Given the description of an element on the screen output the (x, y) to click on. 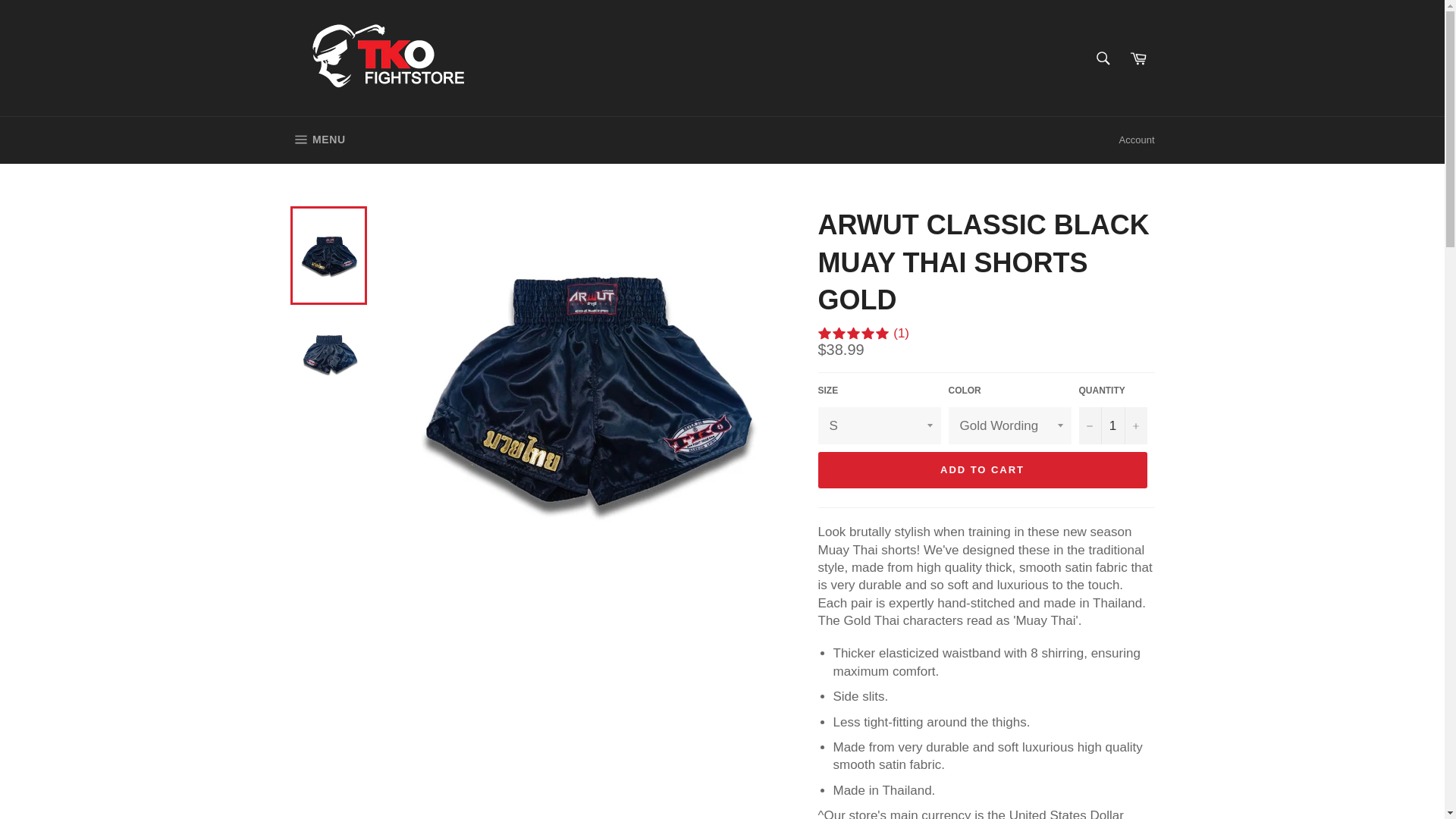
1 (1112, 425)
